Given the description of an element on the screen output the (x, y) to click on. 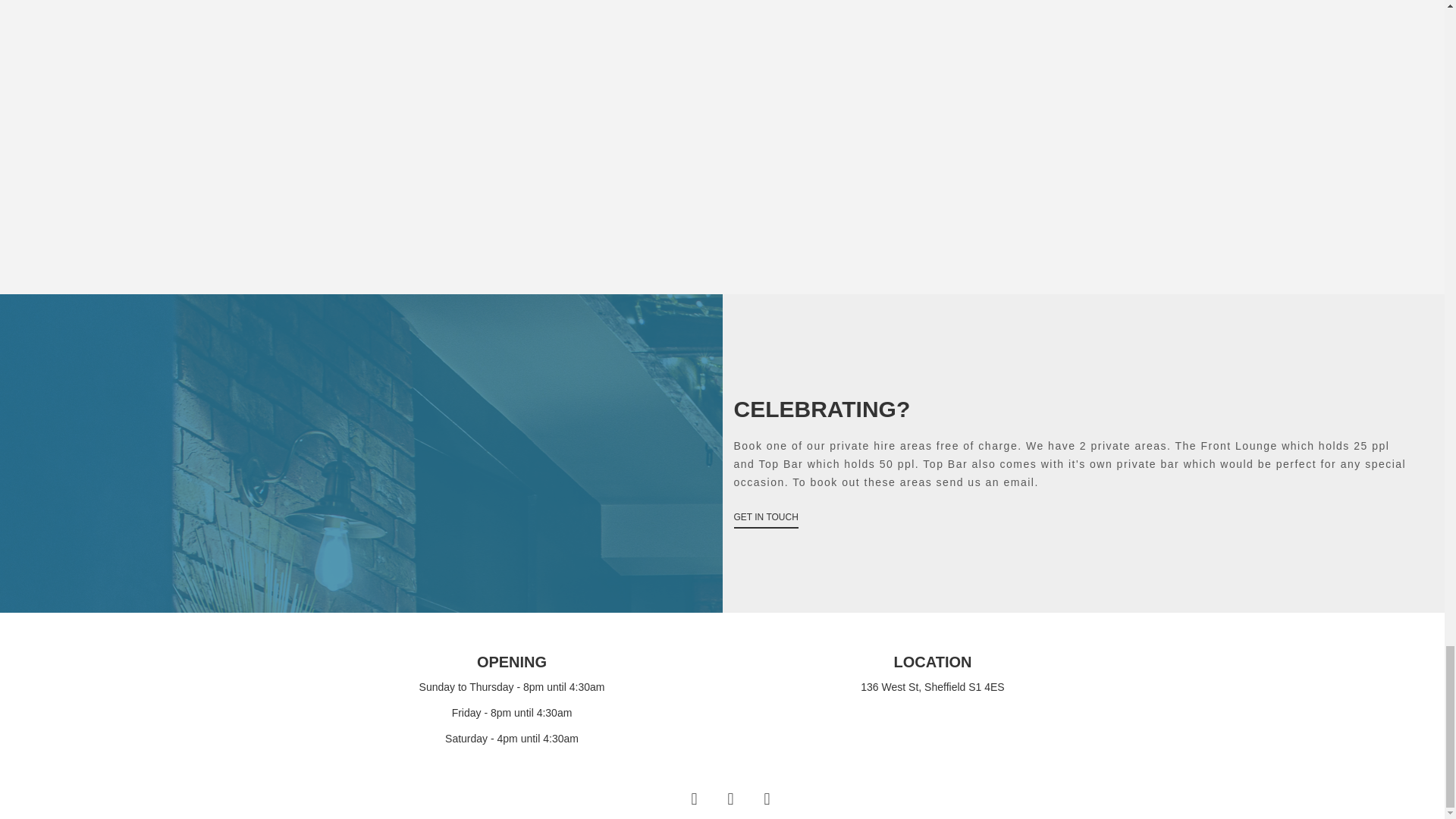
GET IN TOUCH (765, 517)
